Given the description of an element on the screen output the (x, y) to click on. 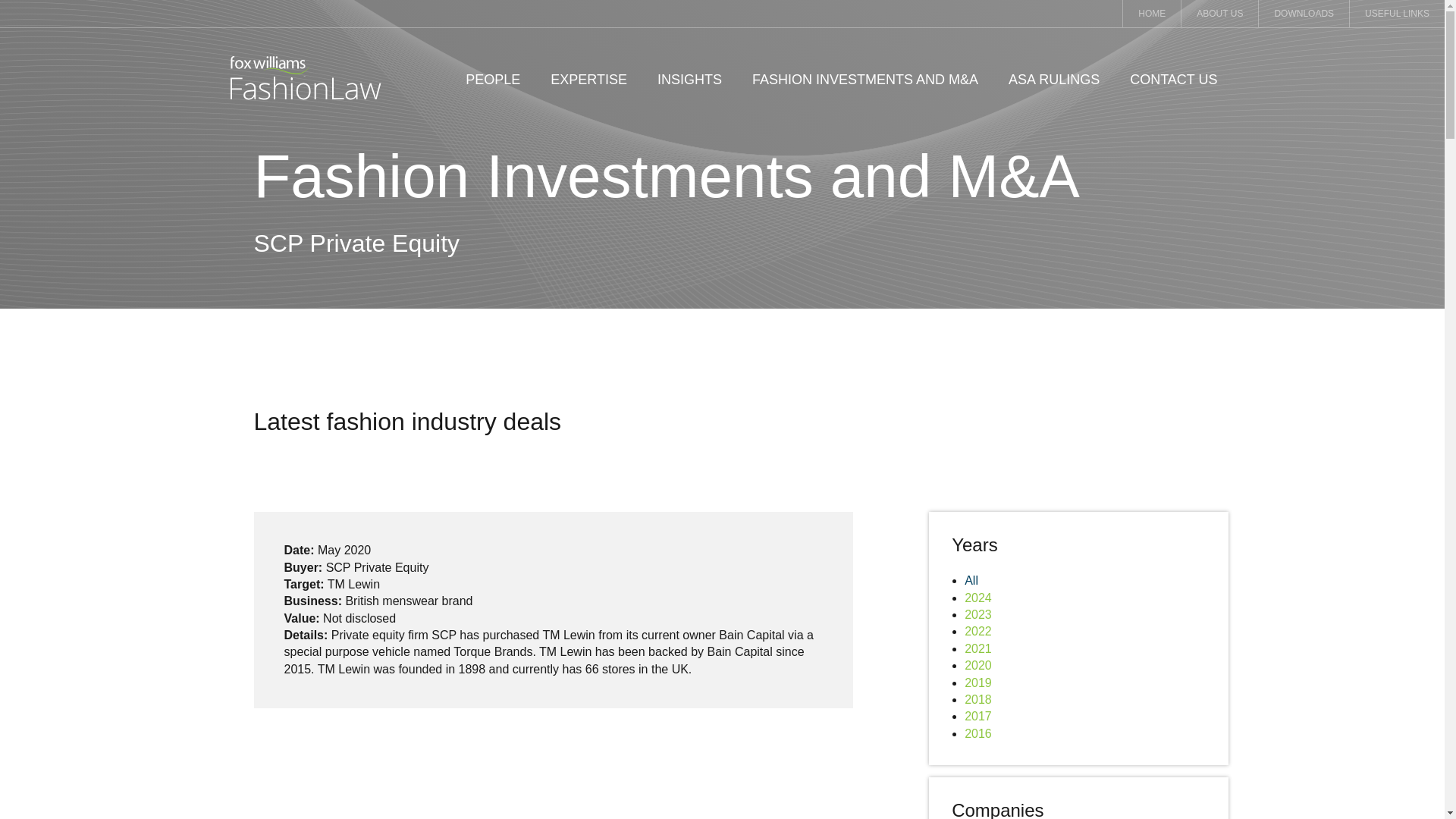
EXPERTISE (588, 79)
2019 (977, 682)
All (970, 580)
2022 (977, 631)
ASA RULINGS (1054, 79)
CONTACT US (1173, 79)
INSIGHTS (690, 79)
2020 (977, 665)
HOME (1151, 13)
2016 (977, 733)
2018 (977, 698)
2024 (977, 597)
ABOUT US (1218, 13)
DOWNLOADS (1304, 13)
2023 (977, 614)
